Given the description of an element on the screen output the (x, y) to click on. 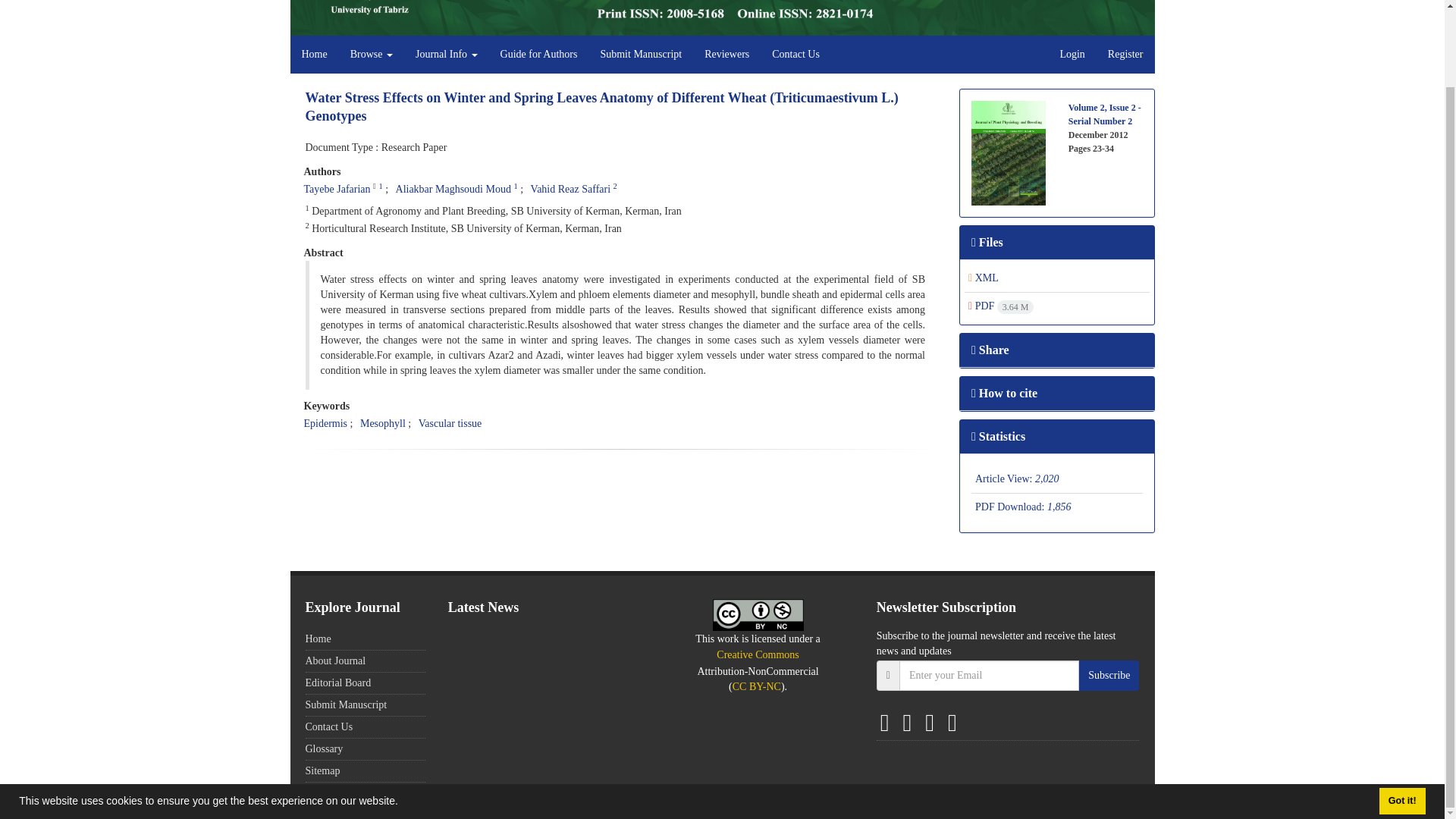
Register (1125, 54)
Submit Manuscript (640, 54)
Got it! (1401, 714)
Volume 2, Issue 2 - Serial Number 2 (1104, 114)
Reviewers (726, 54)
Aliakbar Maghsoudi Moud (453, 188)
Vahid Reaz Saffari (570, 188)
Login (1072, 54)
Epidermis (324, 423)
CC BY-NC (757, 614)
Guide for Authors (539, 54)
Browse (371, 54)
Vascular tissue (450, 423)
Contact Us (795, 54)
Home (313, 54)
